Given the description of an element on the screen output the (x, y) to click on. 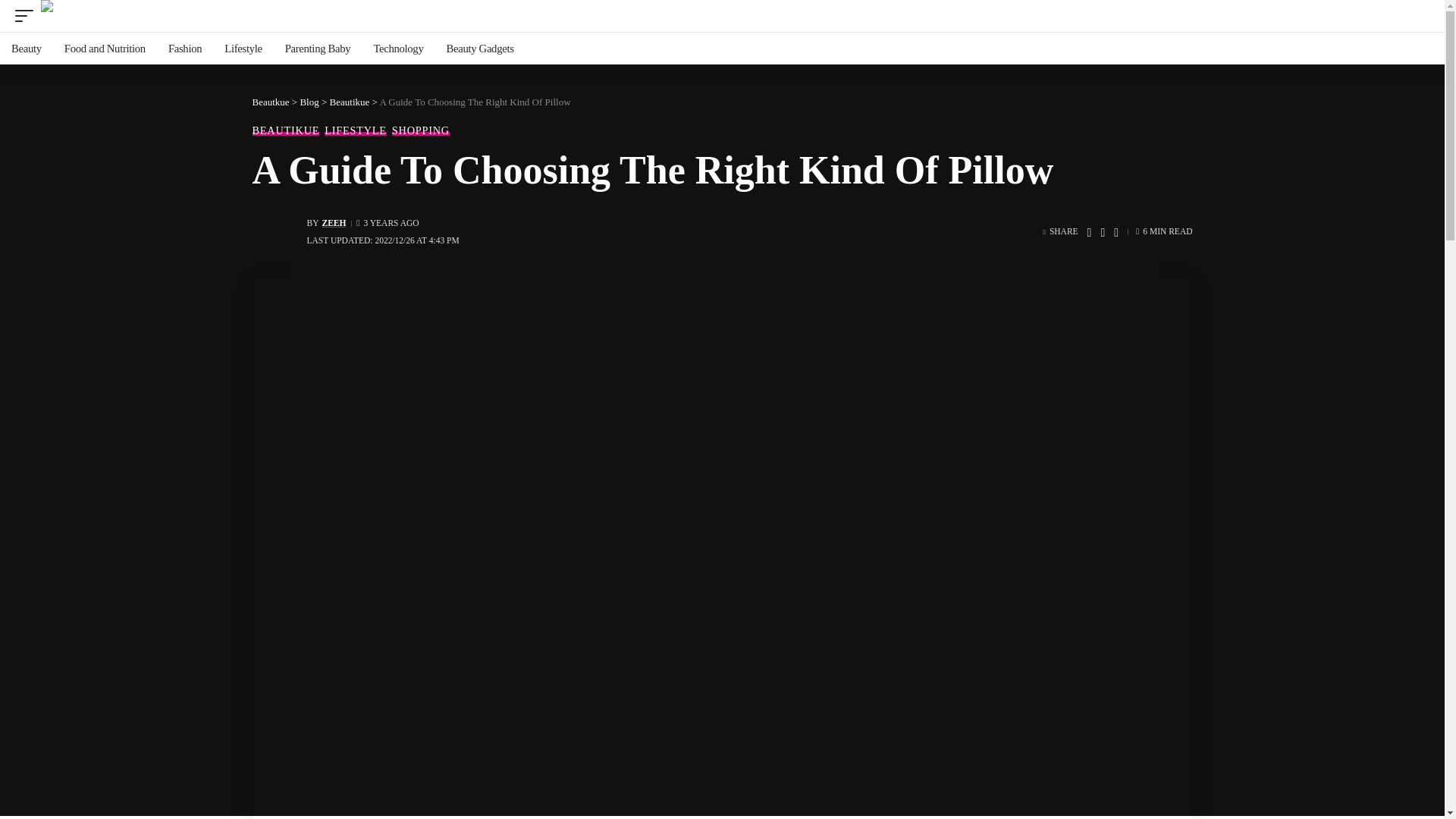
Fashion (184, 48)
Beautkue (269, 101)
BEAUTIKUE (284, 129)
Go to Blog. (308, 101)
Beauty Gadgets (478, 48)
ZEEH (333, 223)
Technology (397, 48)
Beauty (26, 48)
Go to Beautkue. (269, 101)
Blog (308, 101)
